Given the description of an element on the screen output the (x, y) to click on. 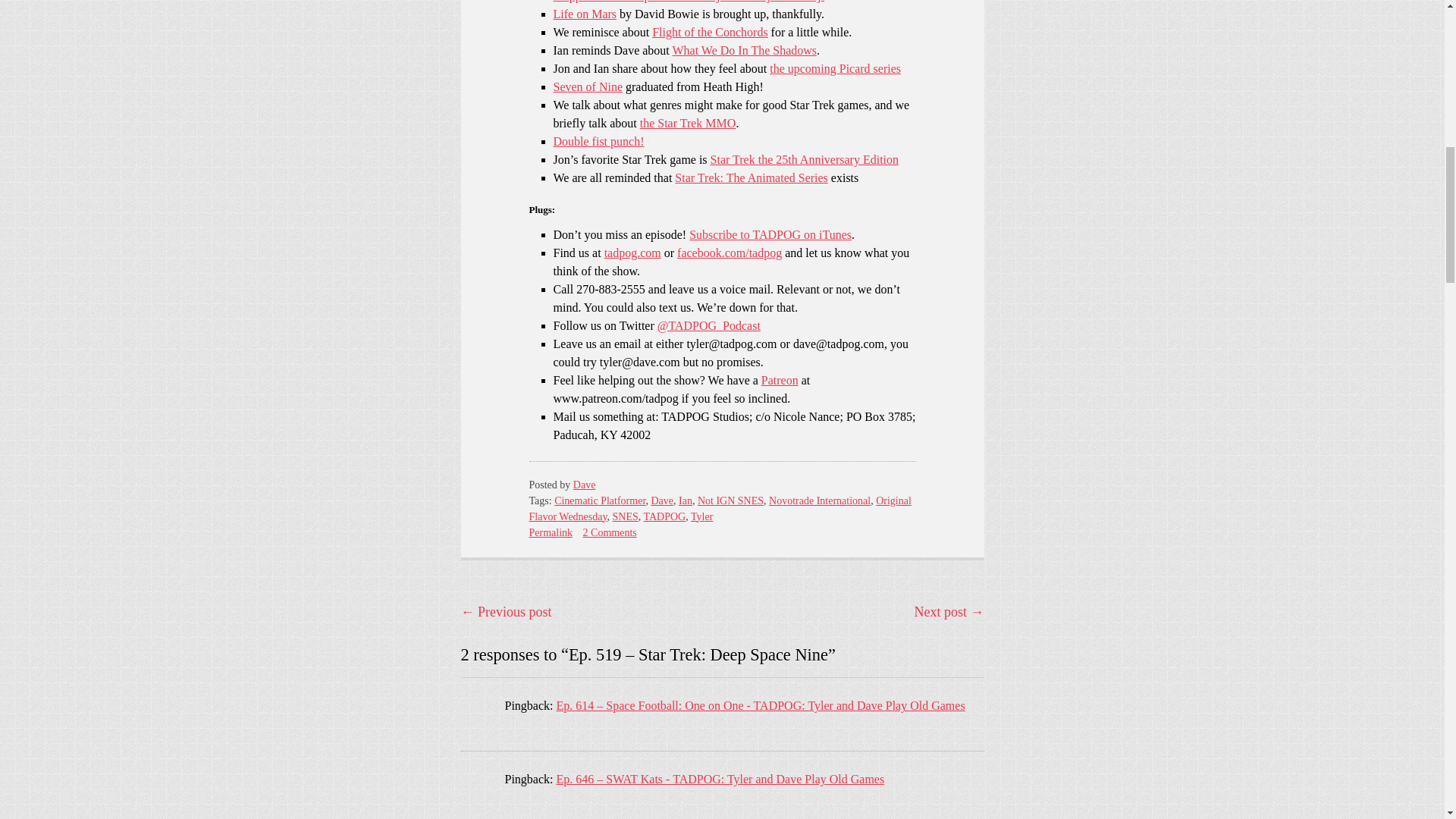
View all posts by Dave (584, 484)
tadpog.com (632, 252)
Patreon (779, 379)
the upcoming Picard series (835, 68)
Dave (584, 484)
Ian (685, 500)
Life on Mars (585, 13)
Subscribe to TADPOG on iTunes (769, 234)
What We Do In The Shadows (743, 50)
the Star Trek MMO (688, 123)
Dave (661, 500)
Double fist punch! (599, 141)
Flight of the Conchords (709, 31)
Not IGN SNES (729, 500)
Original Flavor Wednesday (720, 508)
